Given the description of an element on the screen output the (x, y) to click on. 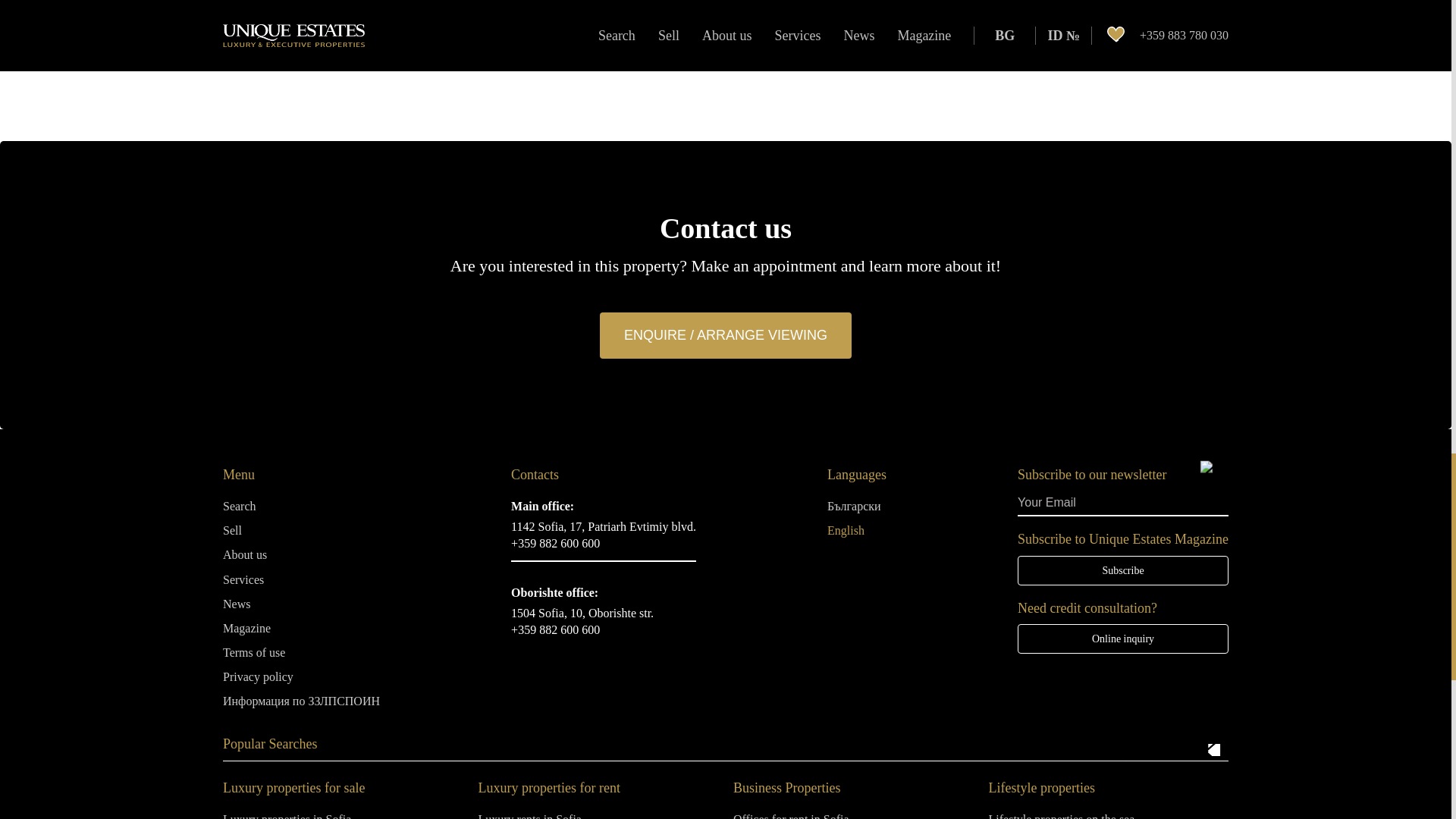
View on Map (603, 526)
View on Map (582, 612)
Call us (555, 543)
Read more (339, 2)
